Given the description of an element on the screen output the (x, y) to click on. 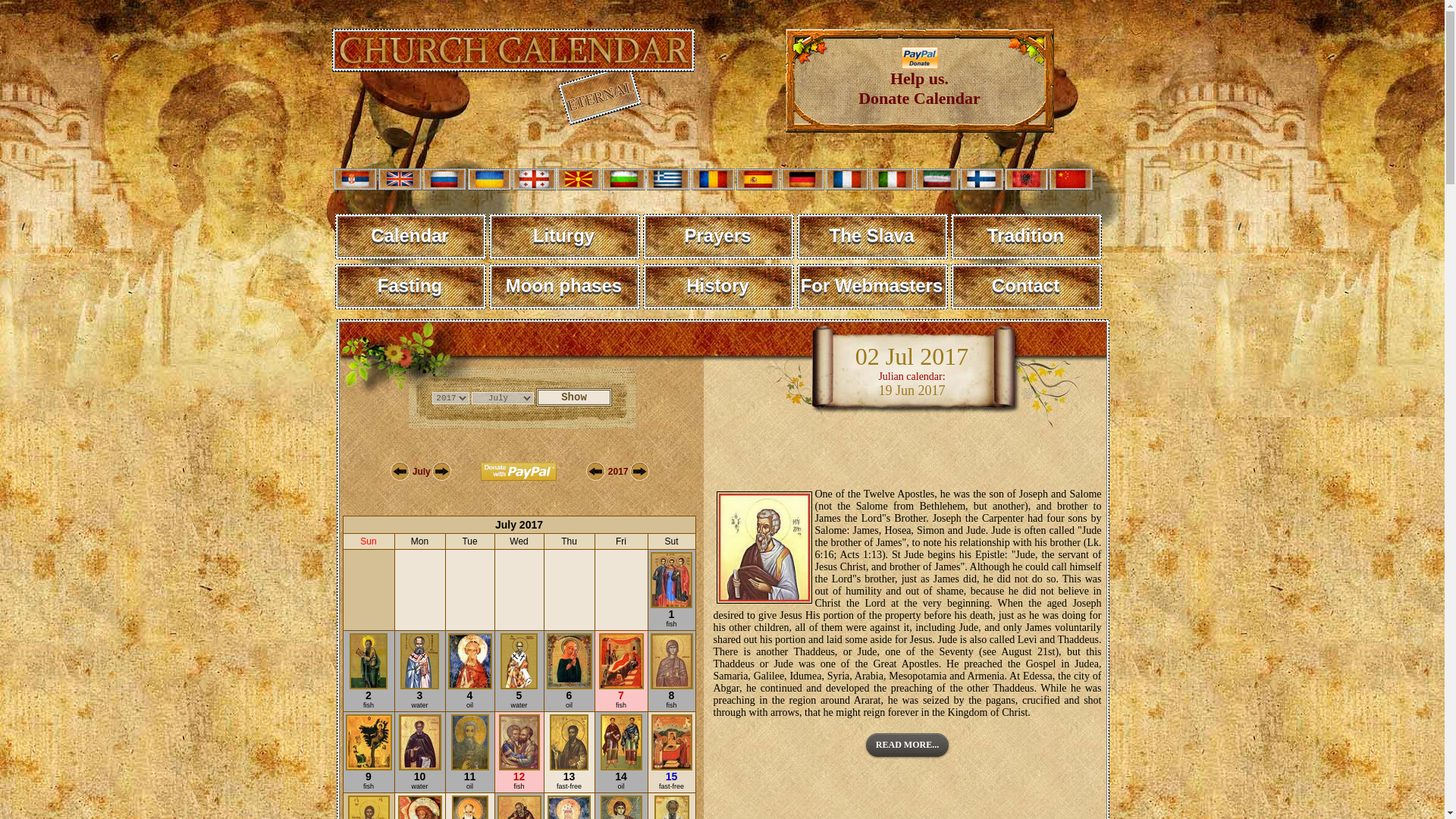
Fasting (919, 80)
History (410, 286)
READ MORE... (718, 286)
Liturgy (907, 745)
Moon phases (563, 236)
Liturgy (563, 286)
Contact (563, 236)
Prayers (1026, 286)
Tradition (718, 236)
